Given the description of an element on the screen output the (x, y) to click on. 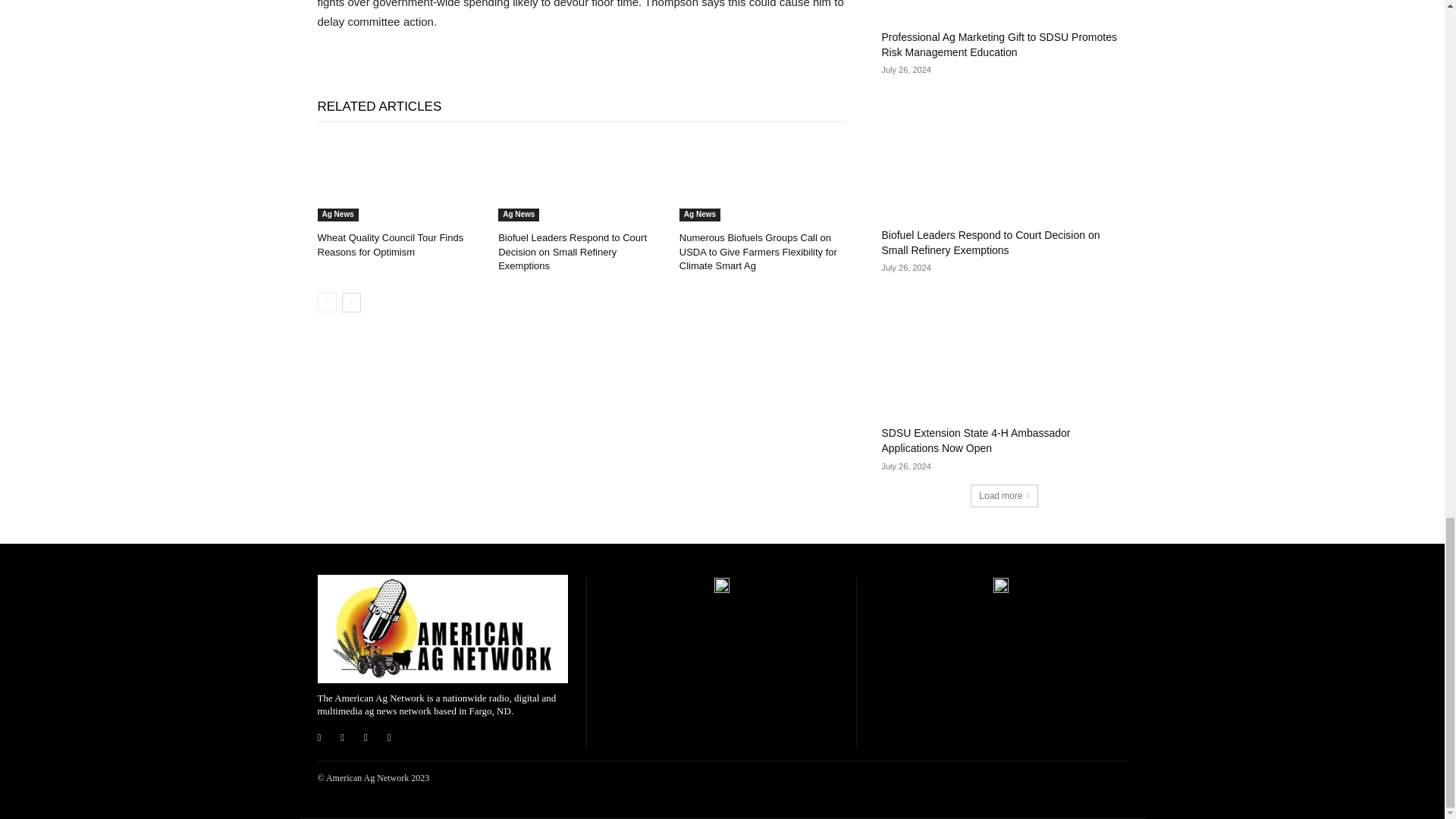
Wheat Quality Council Tour Finds Reasons for Optimism (400, 179)
Wheat Quality Council Tour Finds Reasons for Optimism (390, 244)
